Given the description of an element on the screen output the (x, y) to click on. 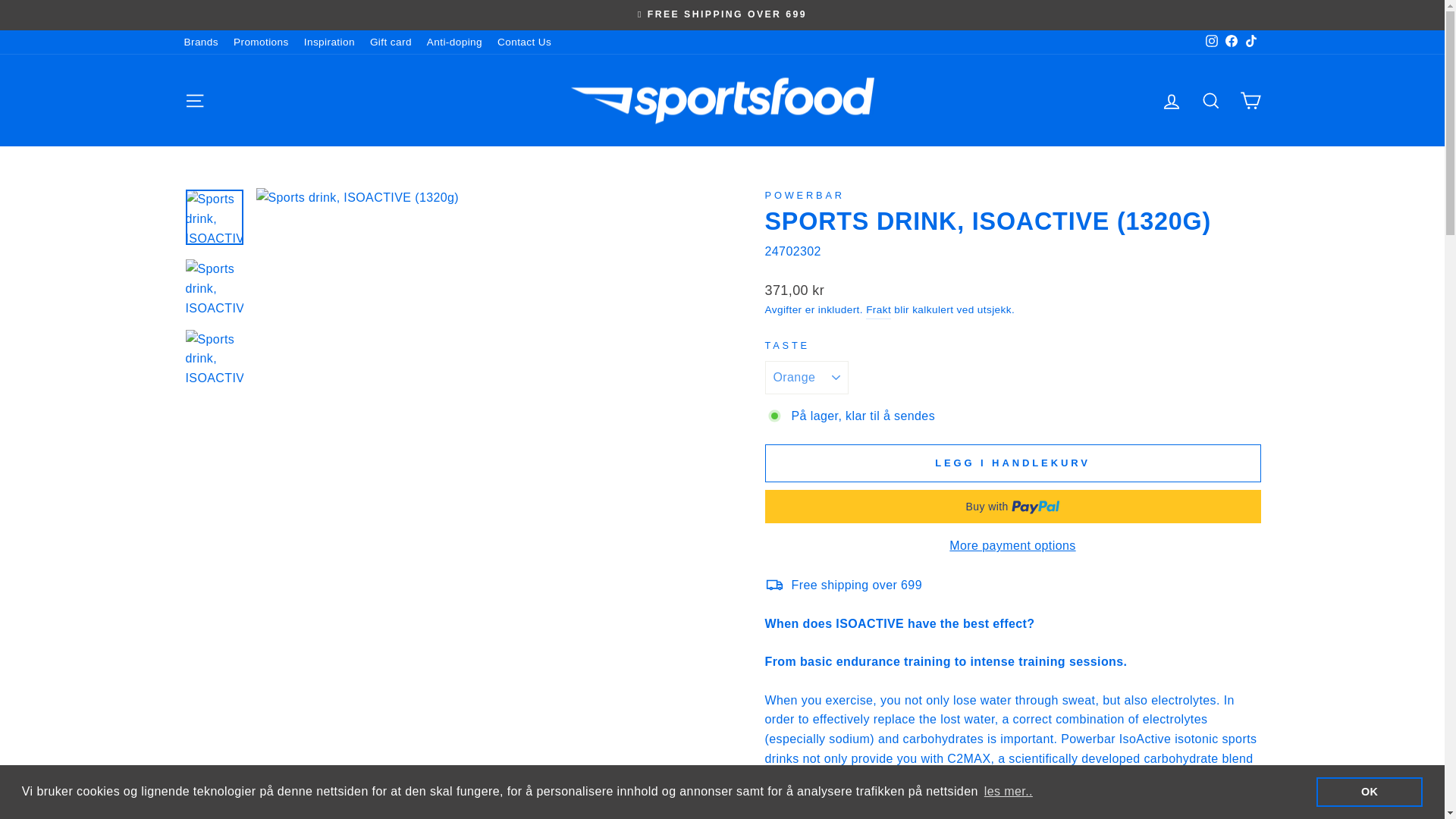
OK (1369, 791)
les mer.. (1008, 791)
Powerbar (804, 194)
